Given the description of an element on the screen output the (x, y) to click on. 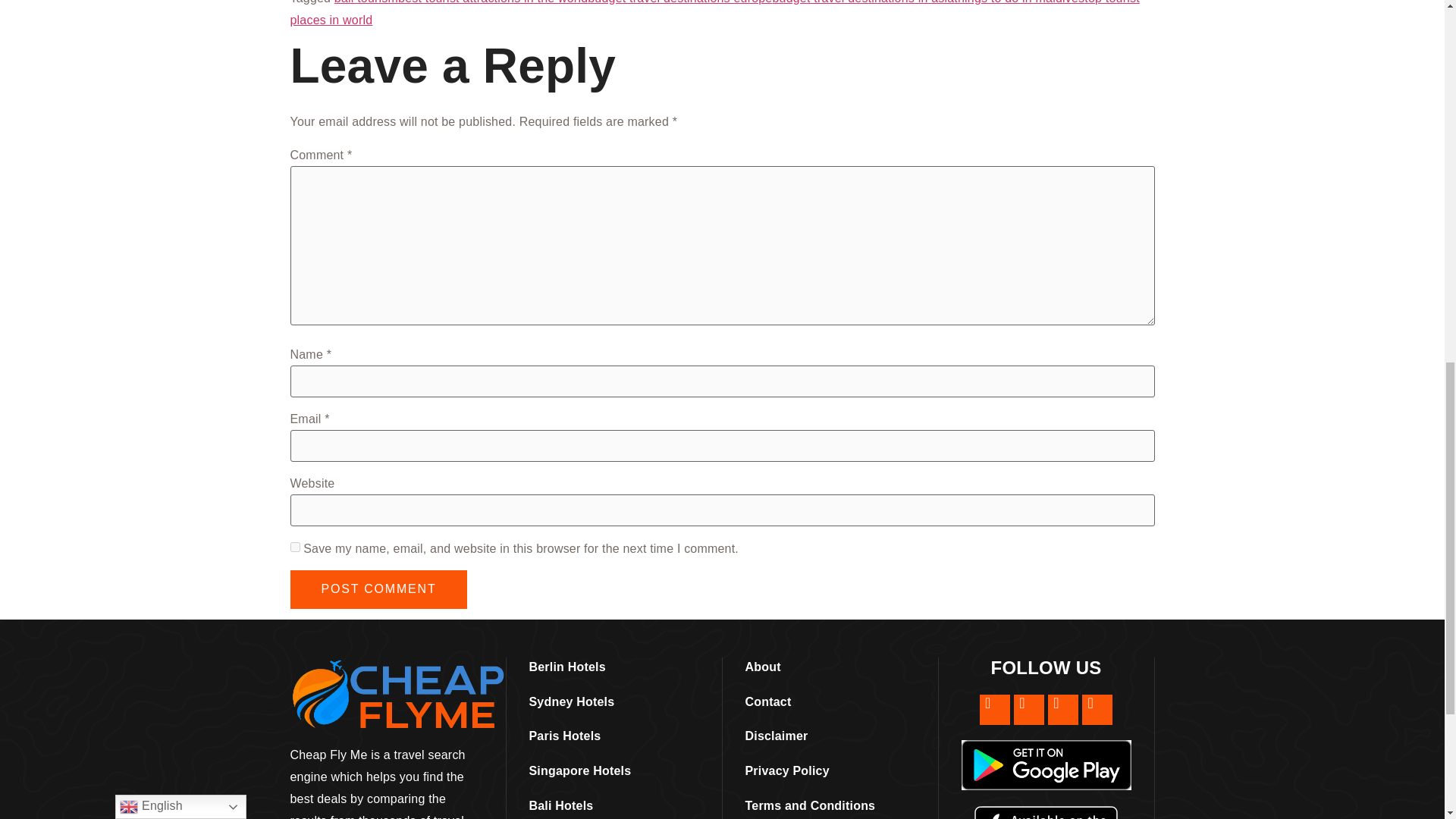
bali tourism (365, 2)
best tourist attractions in the world (492, 2)
budget travel destinations in asia (862, 2)
Post Comment (378, 589)
top tourist places in world (713, 13)
yes (294, 547)
Post Comment (378, 589)
budget travel destinations europe (679, 2)
things to do in maldives (1018, 2)
